Given the description of an element on the screen output the (x, y) to click on. 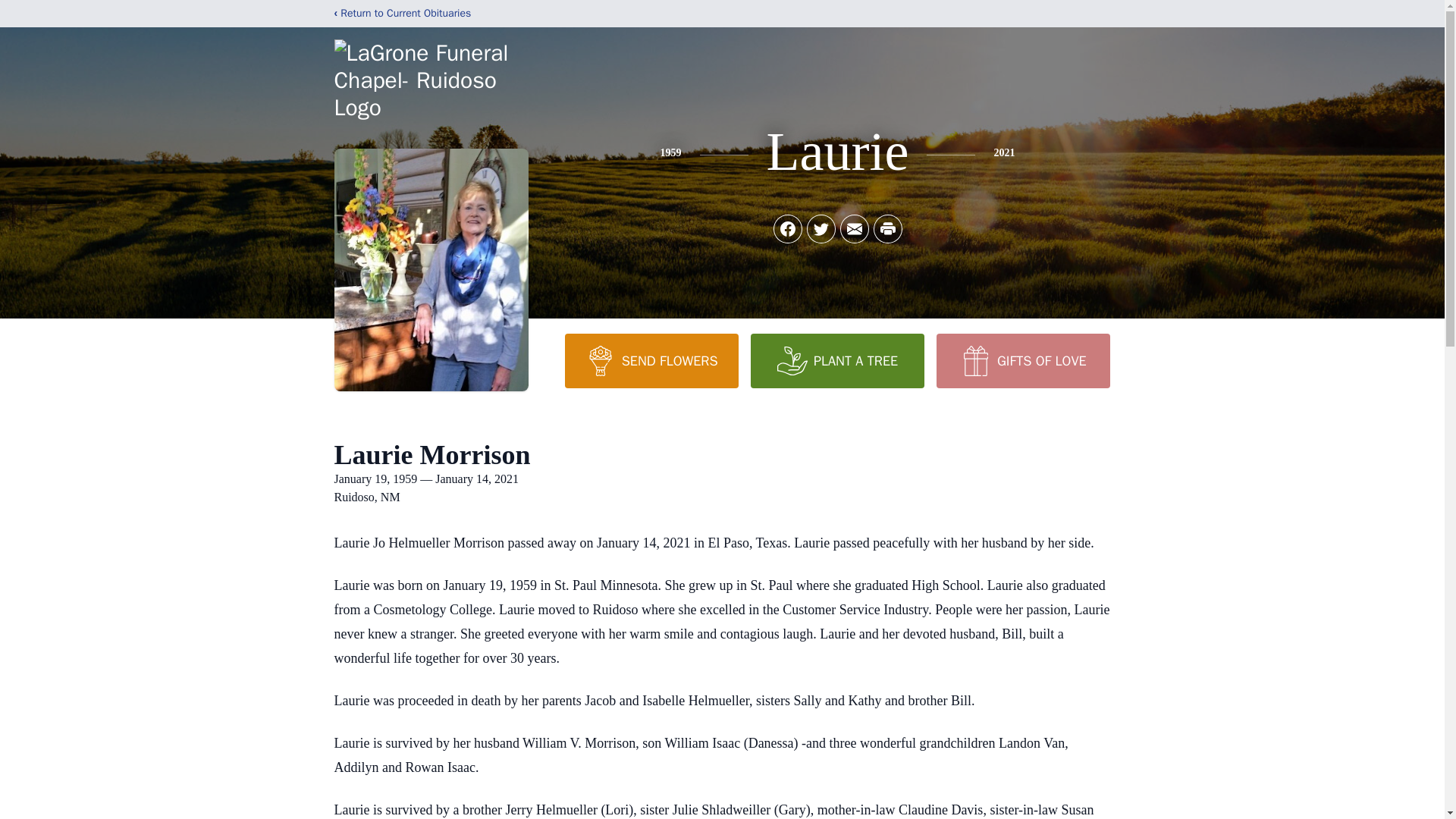
GIFTS OF LOVE (1022, 360)
PLANT A TREE (837, 360)
SEND FLOWERS (651, 360)
